Given the description of an element on the screen output the (x, y) to click on. 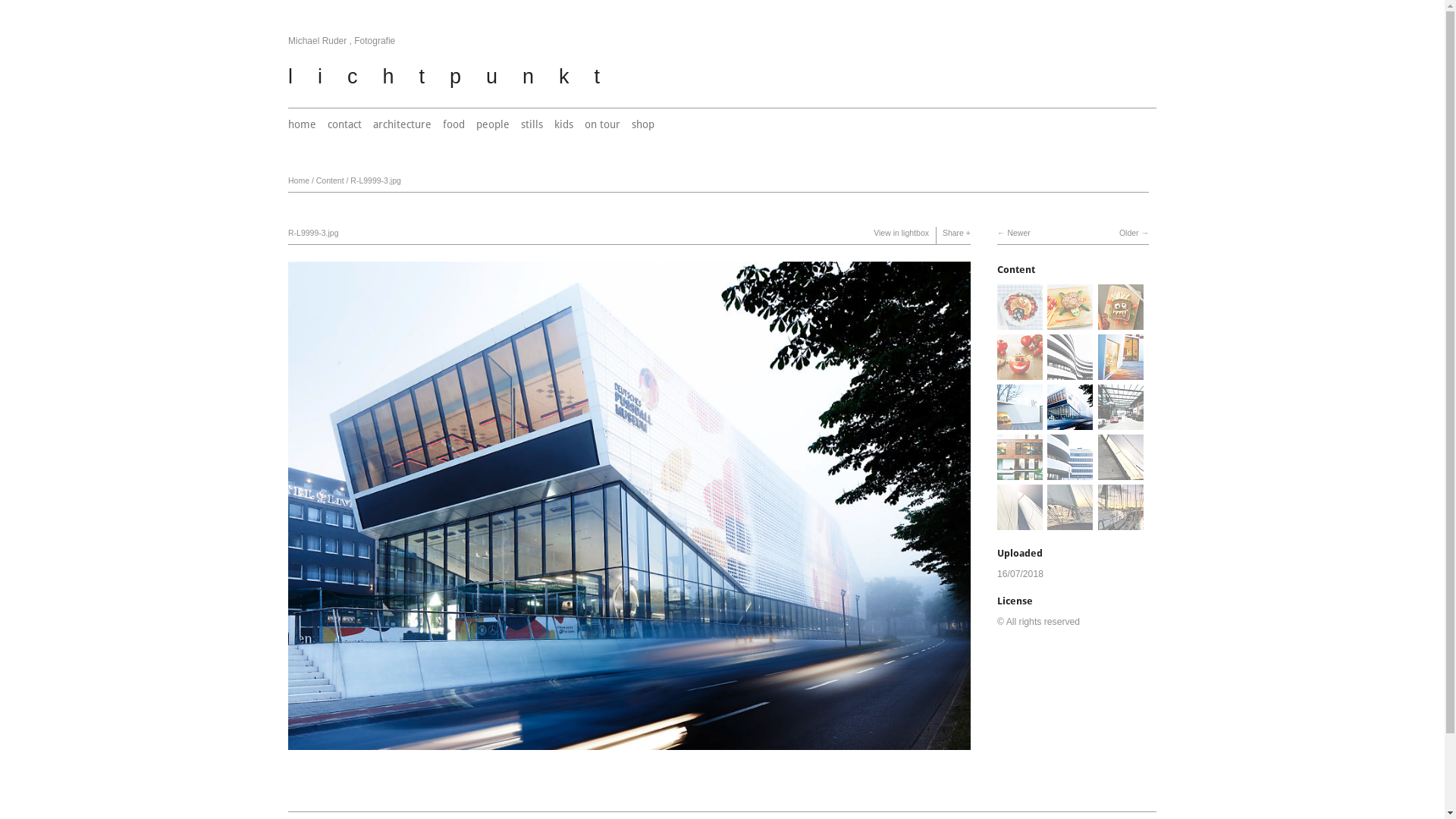
View 51D57270.JPEG Element type: hover (1019, 521)
people Element type: text (492, 124)
View 0418-207-3.jpg Element type: hover (1019, 371)
home Element type: text (302, 124)
shop Element type: text (642, 124)
on tour Element type: text (602, 124)
Lightbox Element type: hover (629, 752)
Older Element type: text (1133, 232)
View 84254-3.jpg Element type: hover (1019, 321)
View IMG-2595.JPG Element type: hover (1069, 521)
View R-L7567.jpg Element type: hover (1120, 421)
architecture Element type: text (402, 124)
View R-L9461-3.jpg Element type: hover (1069, 471)
Content Element type: text (330, 180)
stills Element type: text (531, 124)
View IMG-2600.JPG Element type: hover (1120, 471)
kids Element type: text (563, 124)
View R-L9983-3.jpg Element type: hover (1019, 421)
Content Element type: text (1016, 269)
View 0418-060-3.jpg Element type: hover (1120, 321)
View R-L9464-3.jpg Element type: hover (1069, 371)
R-L9999-3.jpg Element type: text (375, 180)
View in lightbox Element type: text (900, 232)
Home Element type: text (298, 180)
View 84299-3.jpg Element type: hover (1069, 321)
contact Element type: text (344, 124)
lichtpunkt Element type: text (456, 76)
View R-L9989-3.jpg Element type: hover (1120, 371)
food Element type: text (453, 124)
View IMG-2589.JPG Element type: hover (1120, 521)
Newer Element type: text (1013, 232)
View R-L0313.jpg Element type: hover (1019, 471)
